Given the description of an element on the screen output the (x, y) to click on. 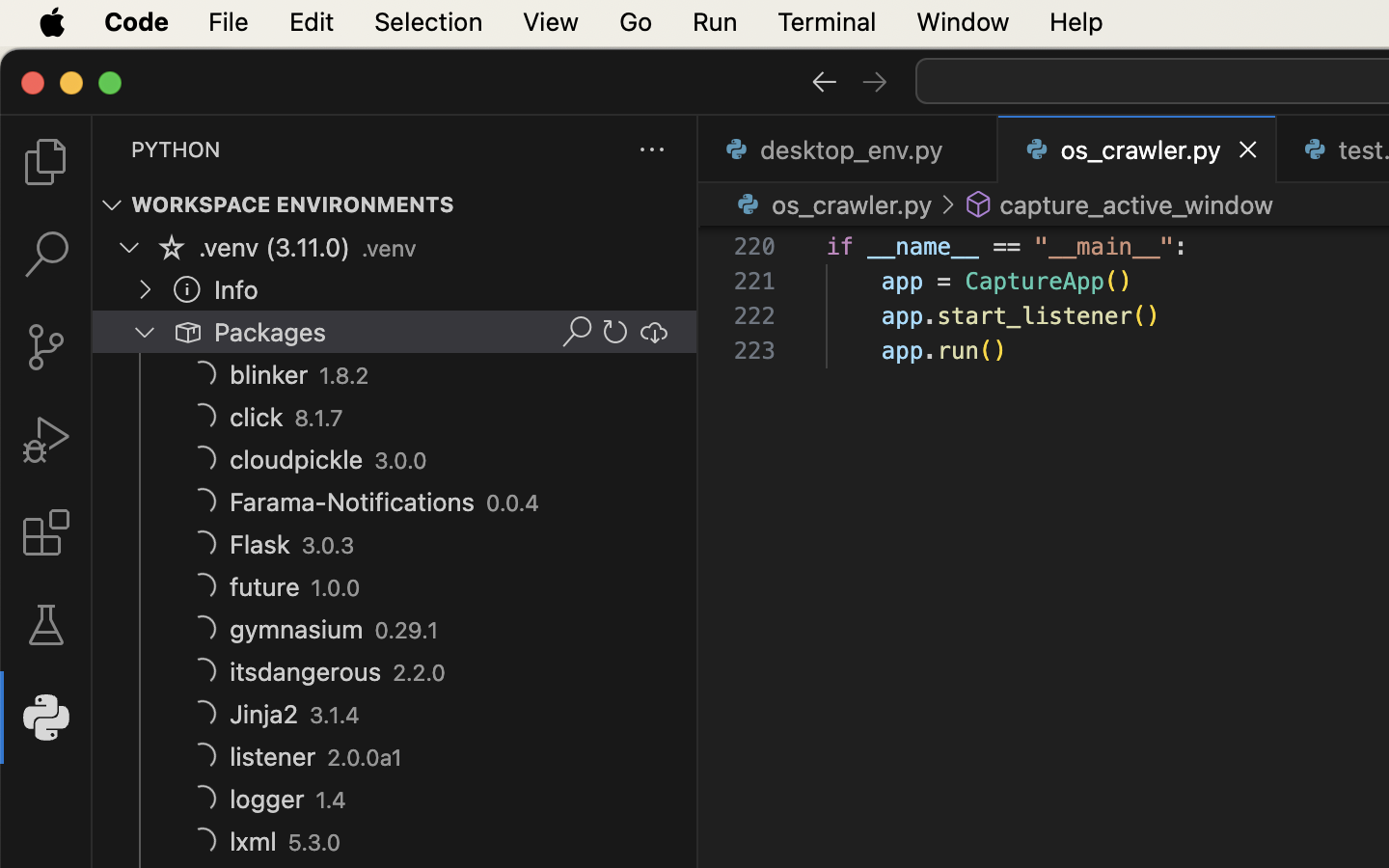
2.0.0a1 Element type: AXStaticText (365, 757)
 Element type: AXStaticText (947, 204)
2.2.0 Element type: AXStaticText (418, 672)
 Element type: AXStaticText (186, 288)
Packages Element type: AXStaticText (270, 332)
